Given the description of an element on the screen output the (x, y) to click on. 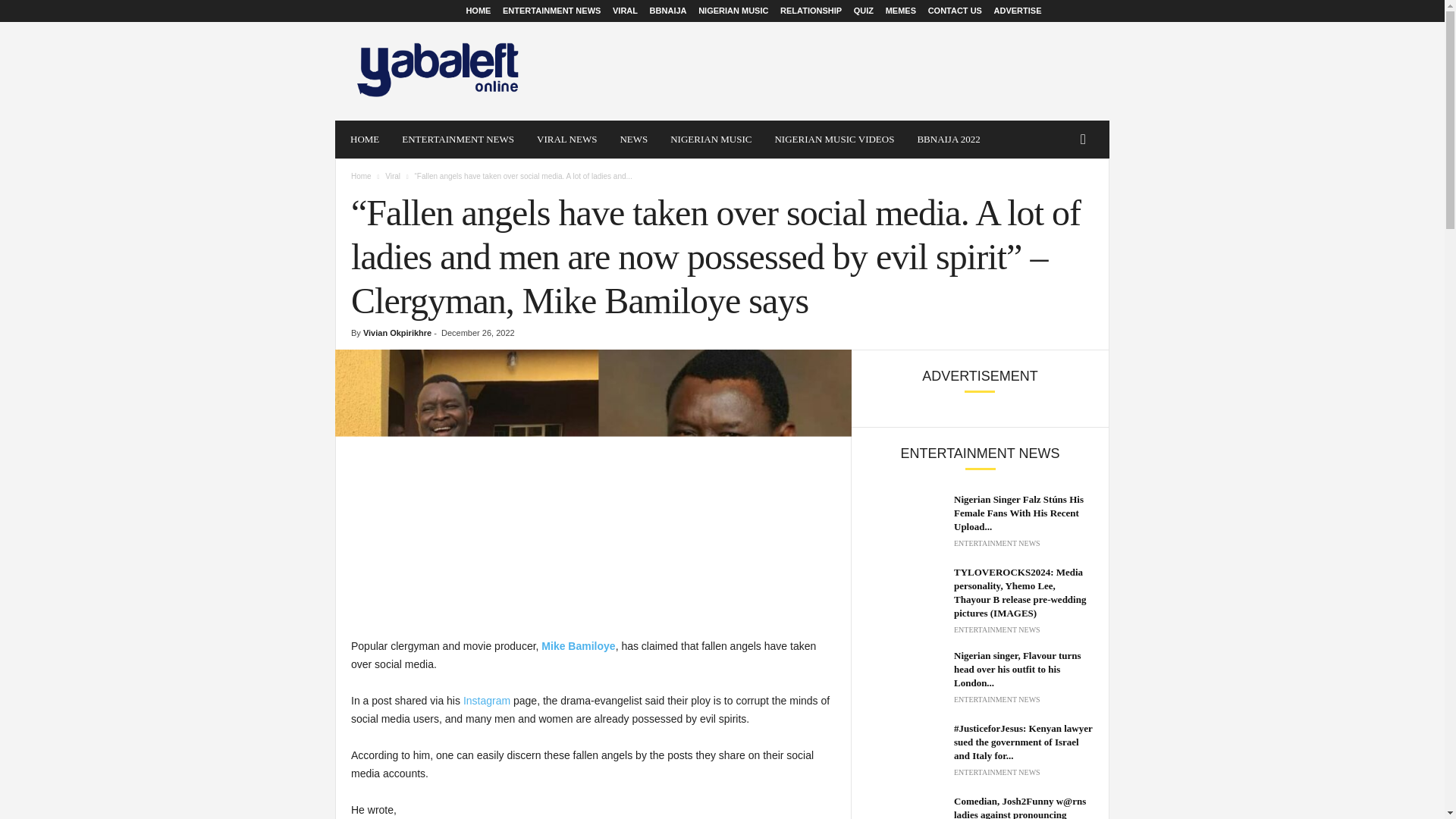
Mike Bamiloye (576, 645)
BBNAIJA (668, 10)
ADVERTISE (1018, 10)
Viral (392, 175)
Vivian Okpirikhre (396, 332)
ENTERTAINMENT NEWS (550, 10)
NIGERIAN MUSIC (733, 10)
NIGERIAN MUSIC (710, 139)
ENTERTAINMENT NEWS (457, 139)
VIRAL NEWS (566, 139)
